Given the description of an element on the screen output the (x, y) to click on. 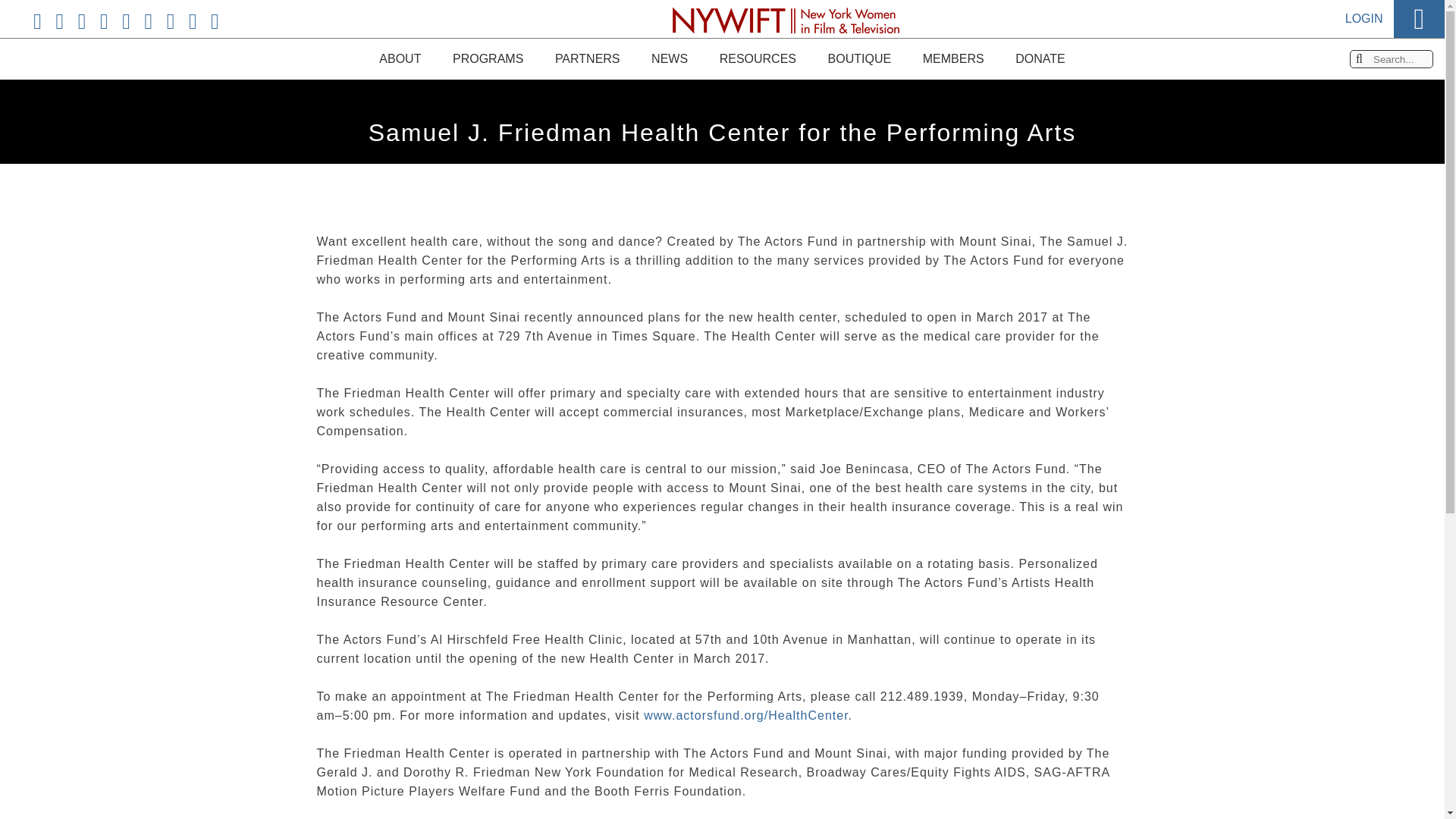
ABOUT (399, 35)
LOGIN (1364, 3)
NEWS (669, 58)
RESOURCES (757, 58)
PROGRAMS (488, 56)
PARTNERS (587, 58)
